Given the description of an element on the screen output the (x, y) to click on. 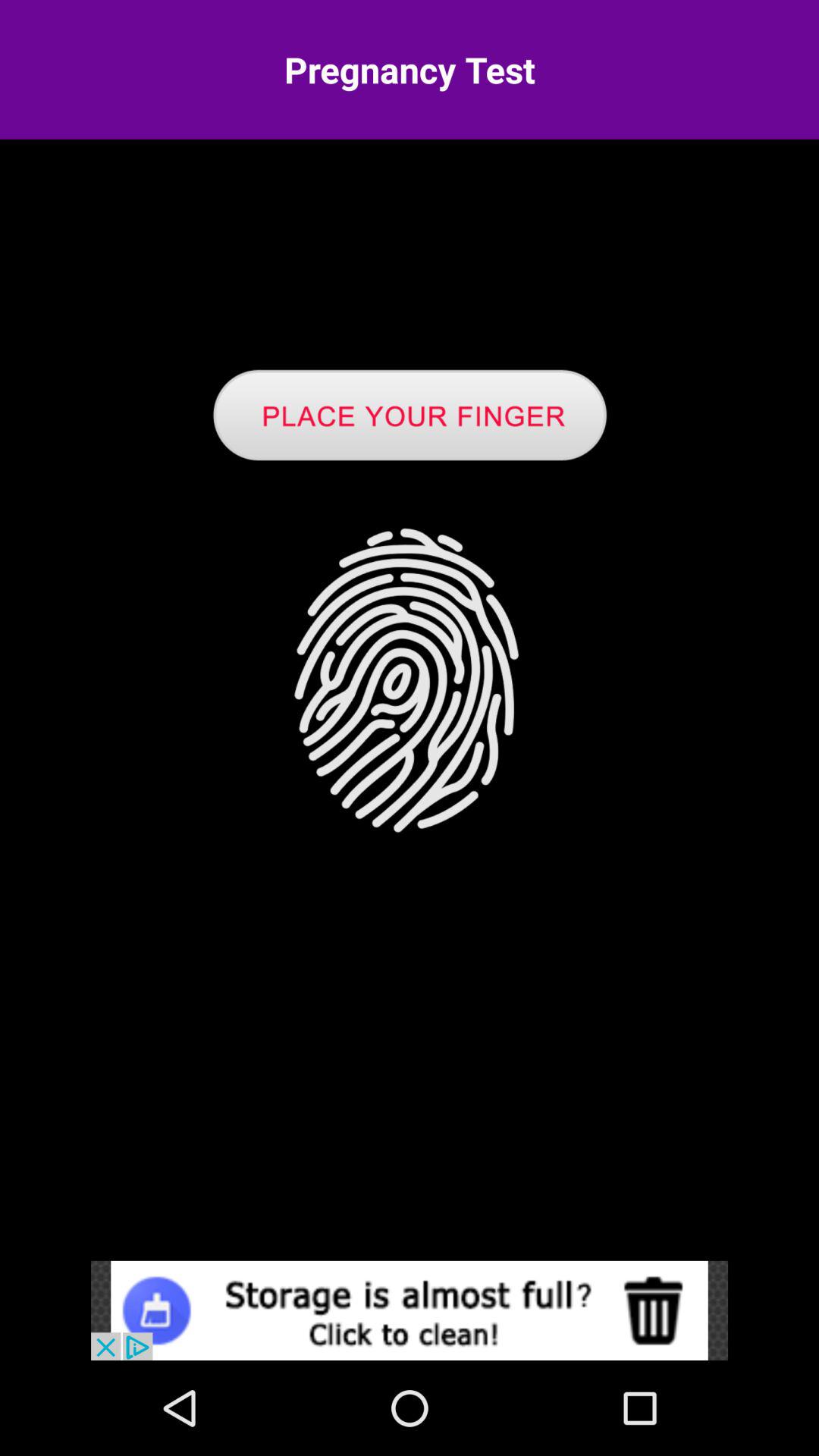
open advertisement (409, 1310)
